Given the description of an element on the screen output the (x, y) to click on. 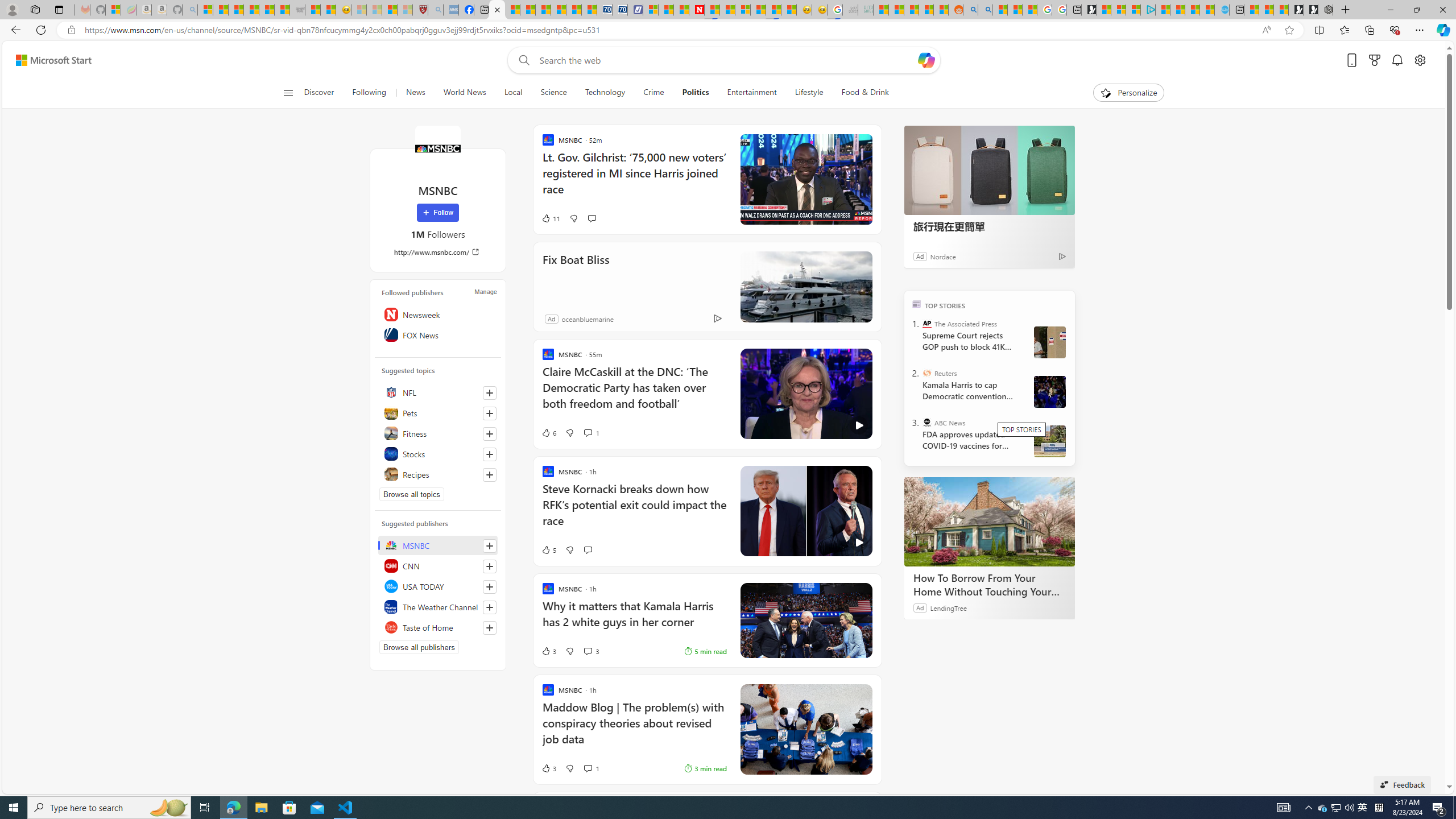
FOX News (437, 334)
Pets (437, 412)
